Given the description of an element on the screen output the (x, y) to click on. 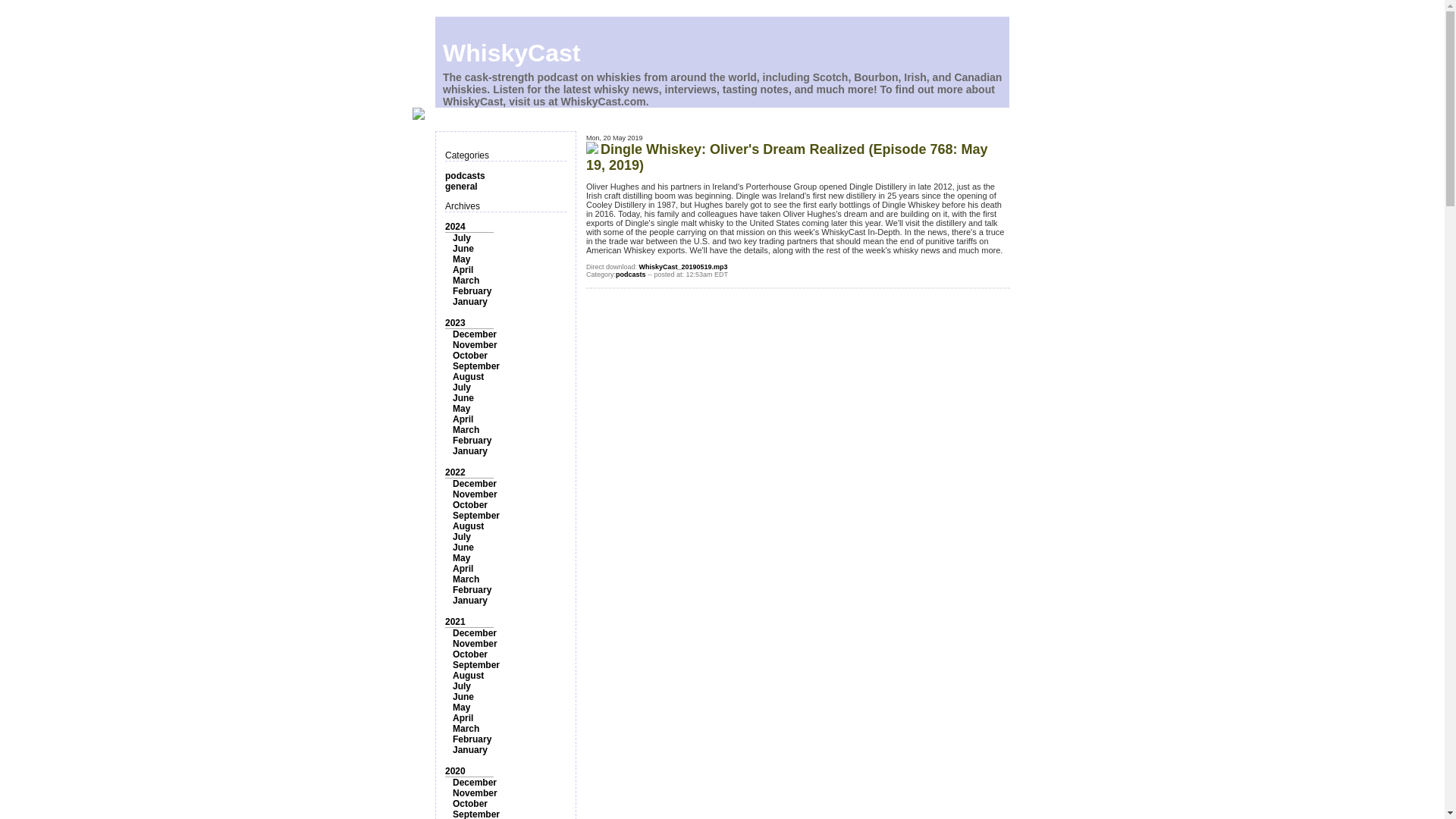
2023 (455, 322)
August (467, 525)
January (469, 450)
February (472, 290)
general (461, 185)
September (475, 515)
November (474, 493)
August (467, 376)
January (469, 301)
September (475, 366)
December (474, 334)
March (465, 280)
December (474, 483)
February (472, 439)
March (465, 579)
